Given the description of an element on the screen output the (x, y) to click on. 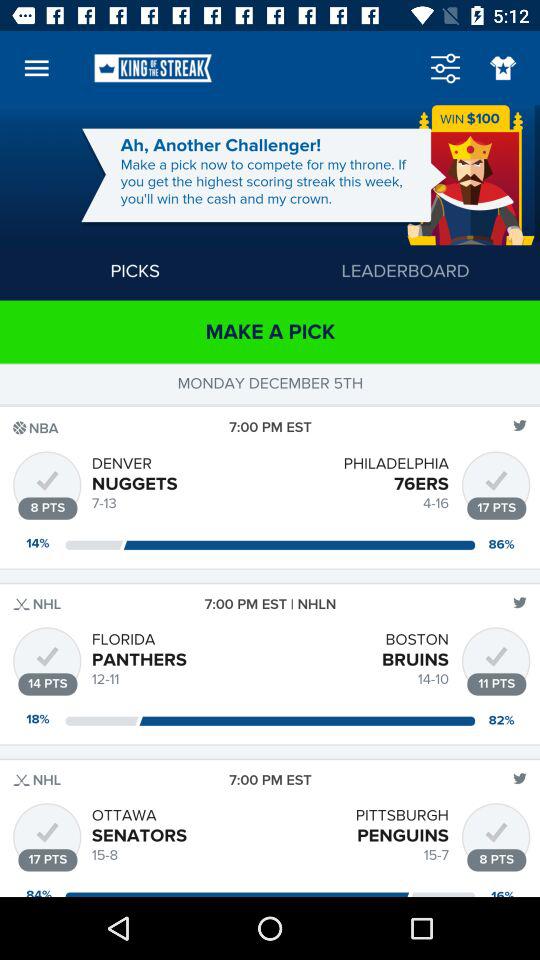
toggle menu option (445, 68)
